Given the description of an element on the screen output the (x, y) to click on. 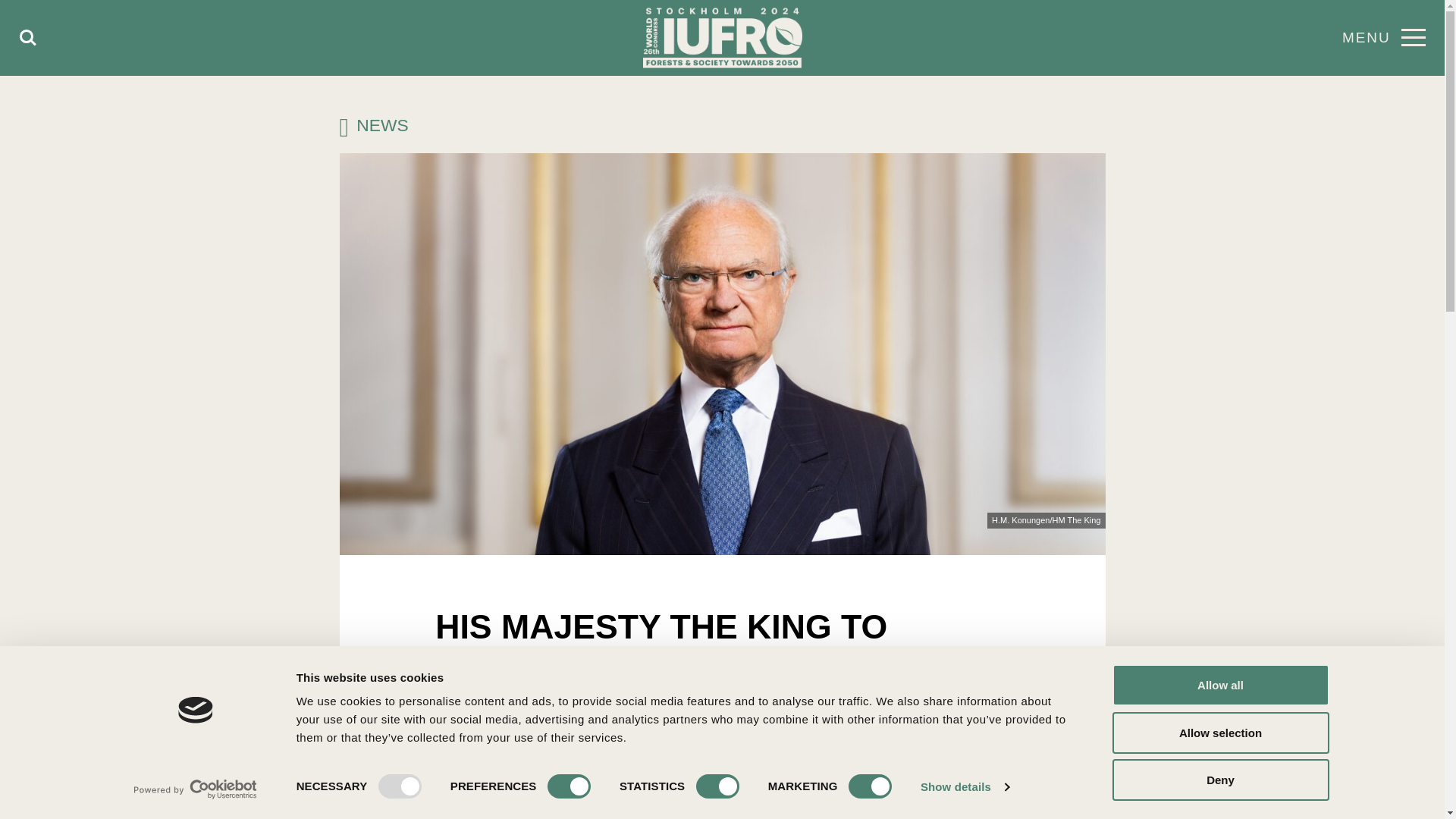
IUFRO Stockholm 2024 (722, 37)
Show details (964, 786)
SEARCH (28, 37)
